Given the description of an element on the screen output the (x, y) to click on. 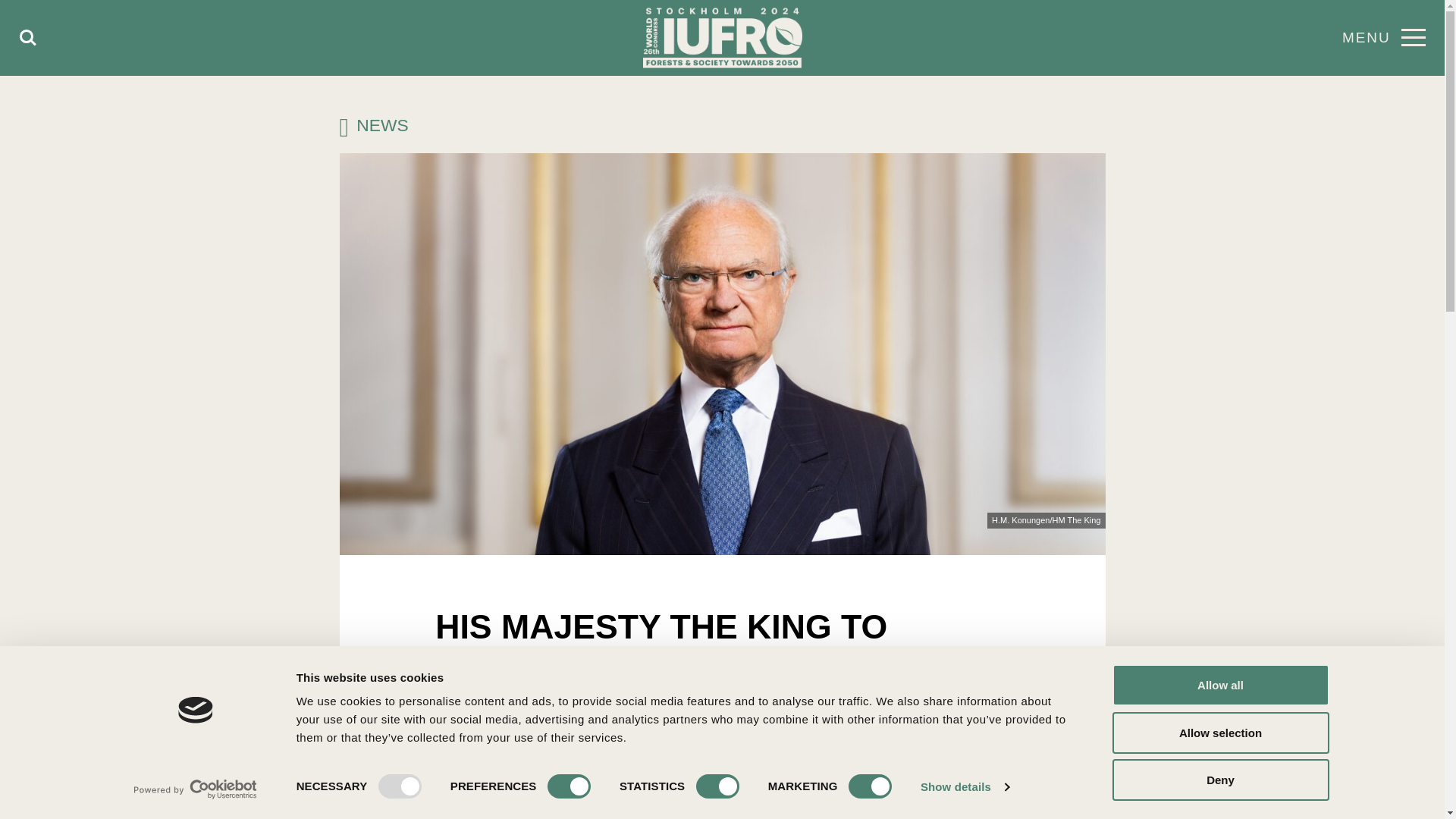
IUFRO Stockholm 2024 (722, 37)
Show details (964, 786)
SEARCH (28, 37)
